Given the description of an element on the screen output the (x, y) to click on. 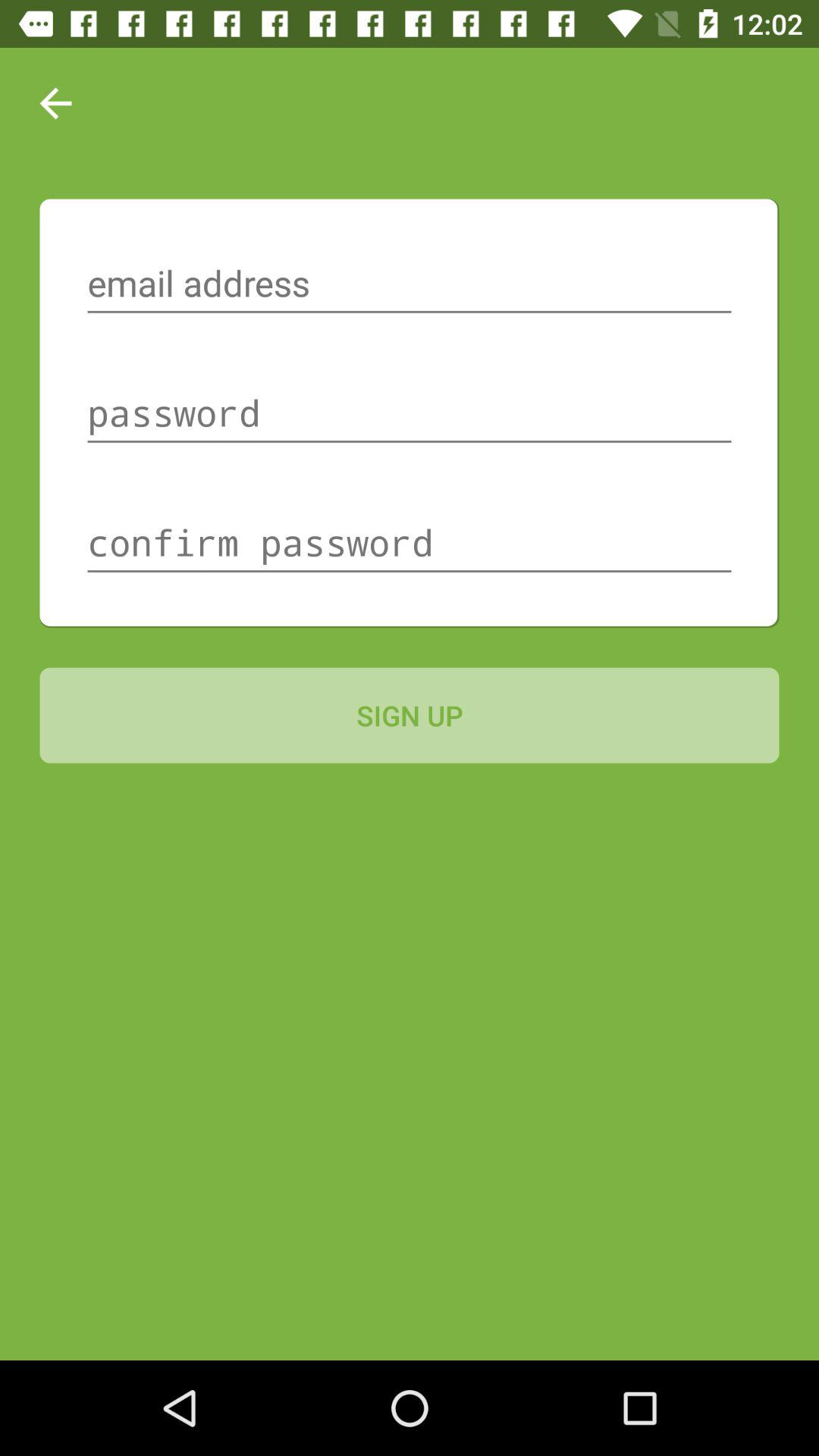
turn on the icon at the top left corner (55, 103)
